Given the description of an element on the screen output the (x, y) to click on. 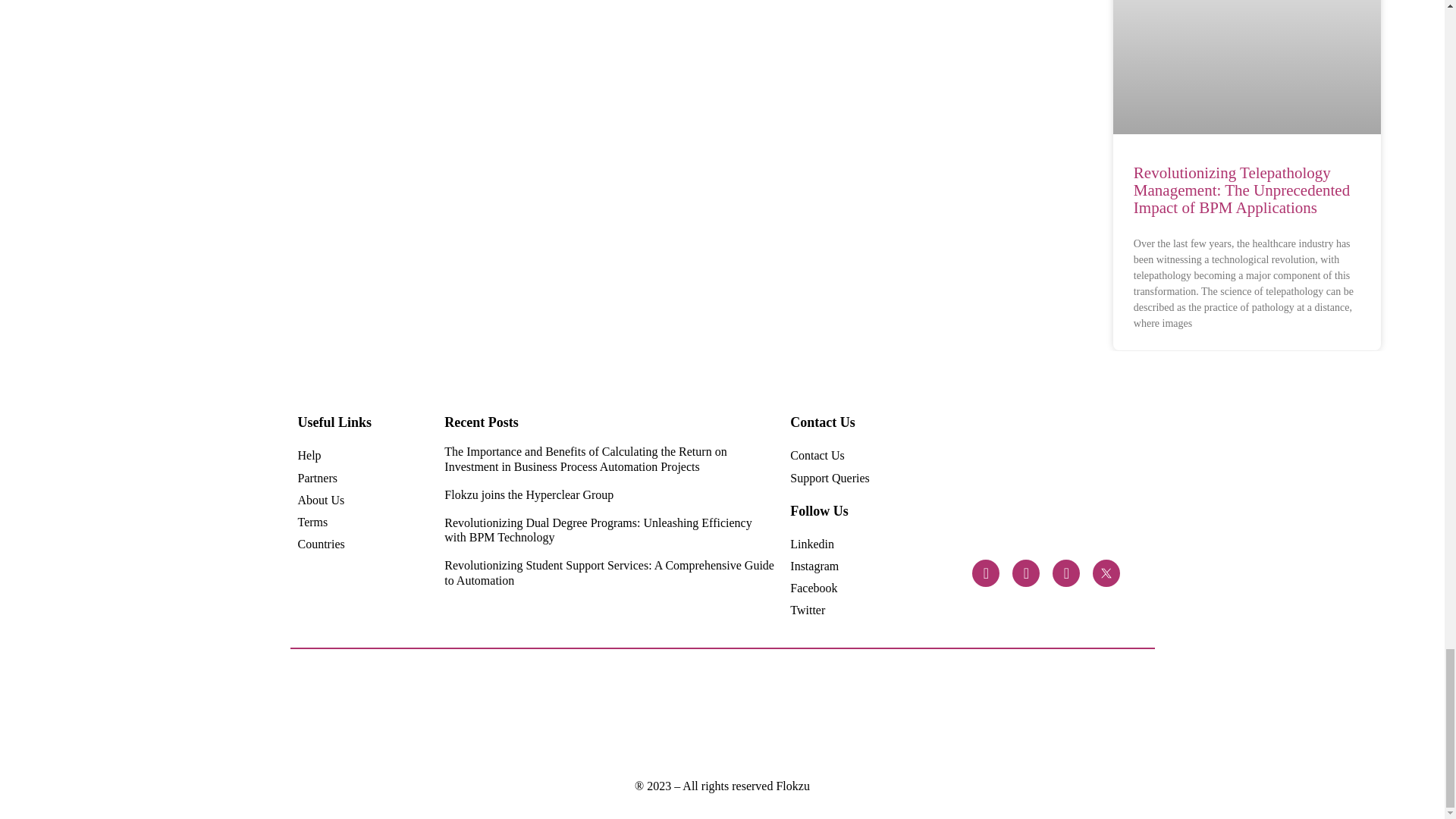
frontrunner 2024 (494, 714)
category leaders 2024 (430, 714)
good firms top bpm-footer (945, 715)
Top Performer Flokzu 2024-1 (688, 714)
getapp best functionality and features-footer (1010, 714)
Top Performer Flokzu 2024-2 (559, 714)
